Given the description of an element on the screen output the (x, y) to click on. 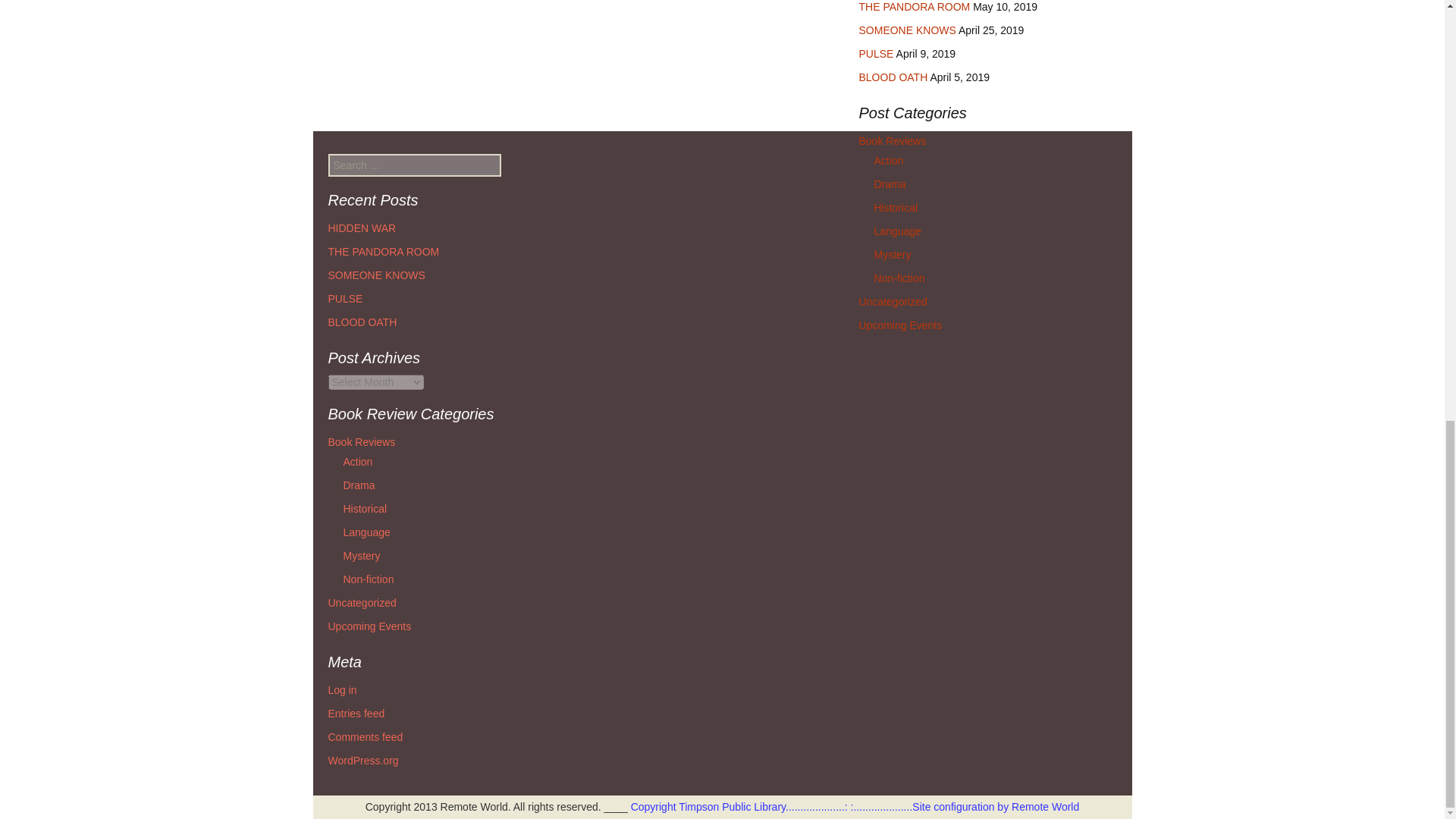
Action (887, 160)
BLOOD OATH (893, 77)
Drama (889, 184)
PULSE (876, 53)
Book Reviews (892, 141)
Historical (895, 207)
Language (896, 231)
SOMEONE KNOWS (907, 30)
THE PANDORA ROOM (914, 6)
